Given the description of an element on the screen output the (x, y) to click on. 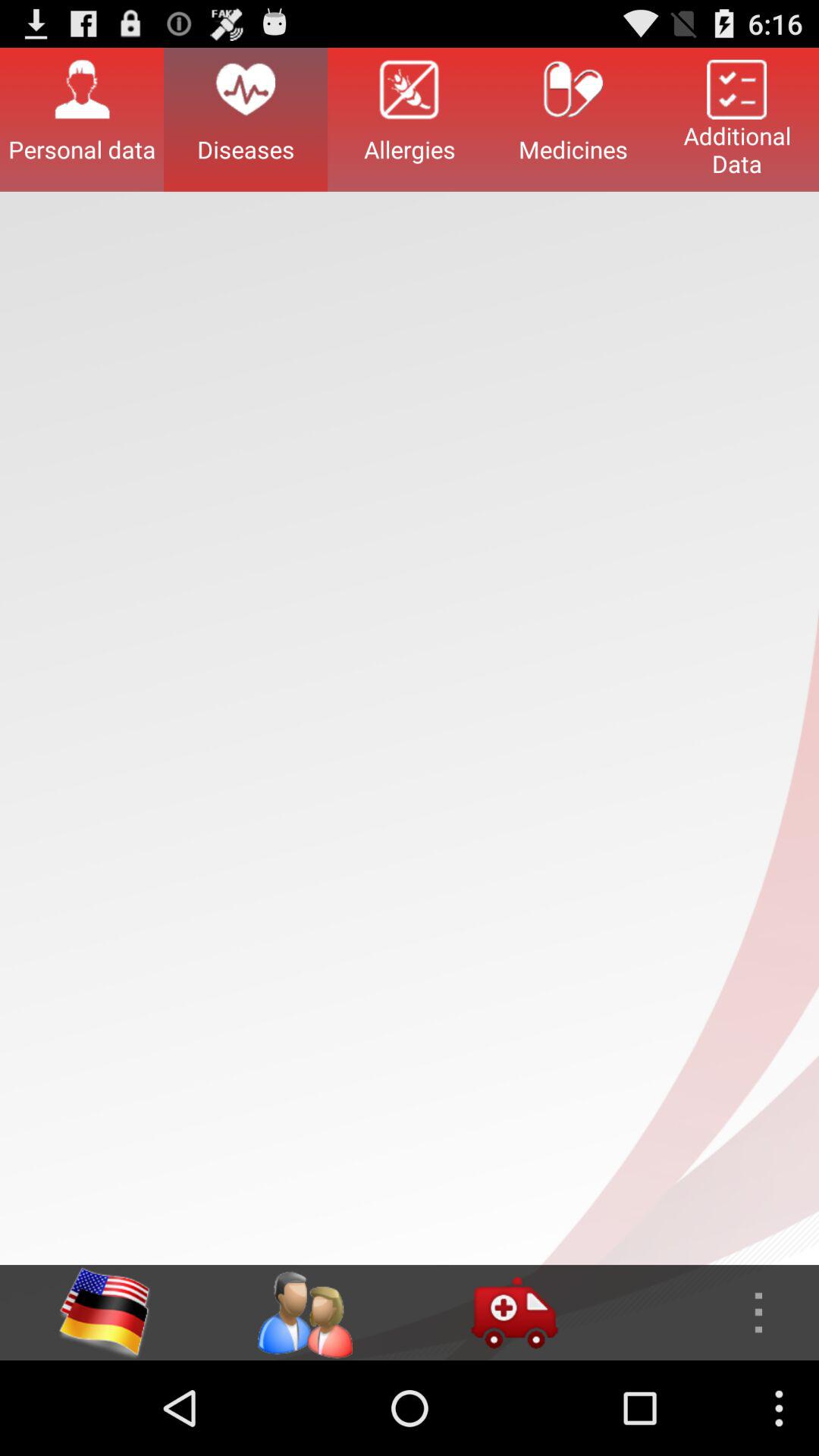
choose the icon to the right of allergies icon (573, 119)
